Given the description of an element on the screen output the (x, y) to click on. 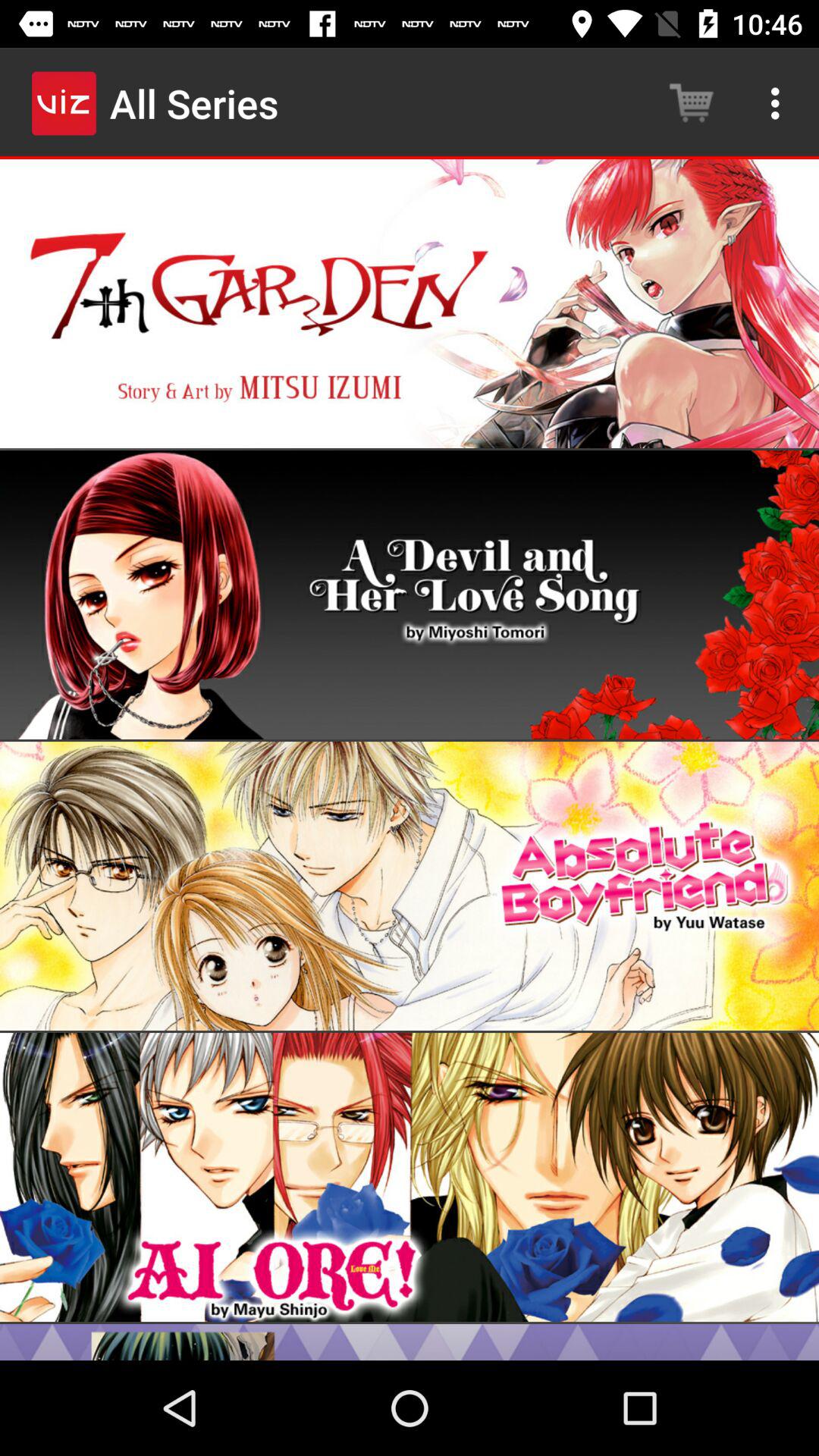
launch item next to the all series item (691, 103)
